Given the description of an element on the screen output the (x, y) to click on. 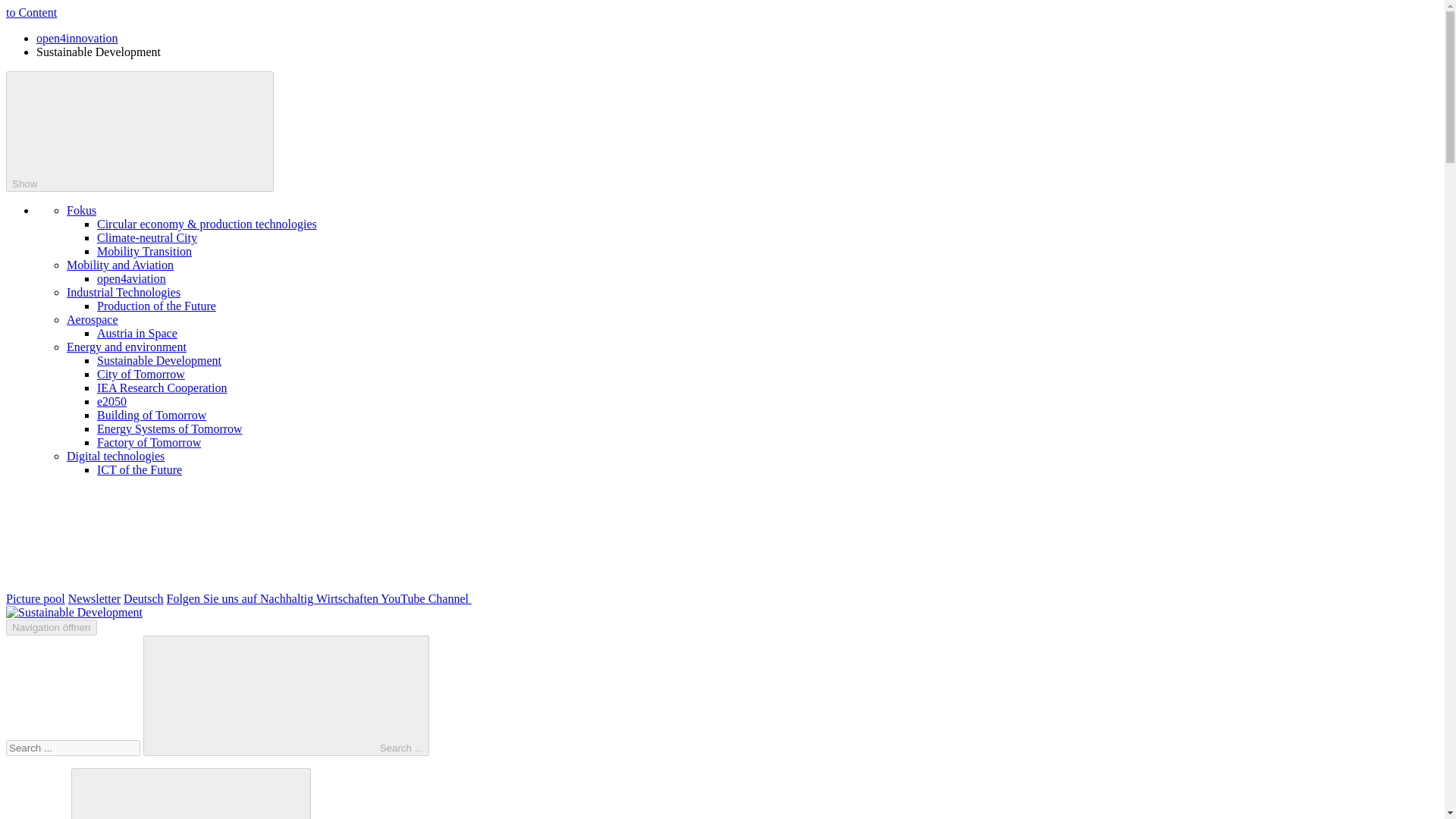
Deutsch (143, 598)
Austria in Space (137, 332)
Production of the Future (156, 305)
Mobility and Aviation (119, 264)
ICT of the Future (139, 469)
City of Tomorrow (140, 373)
Energy Systems of Tomorrow (170, 428)
Building of Tomorrow (151, 414)
Mobility Transition (144, 250)
Digital technologies (115, 455)
e2050 (111, 400)
Nachhaltig Wirtschaften YouTube Channel (432, 598)
Fokus (81, 210)
Newsletter (94, 598)
Folgen Sie uns auf Nachhaltig Wirtschaften YouTube Channel (432, 598)
